Given the description of an element on the screen output the (x, y) to click on. 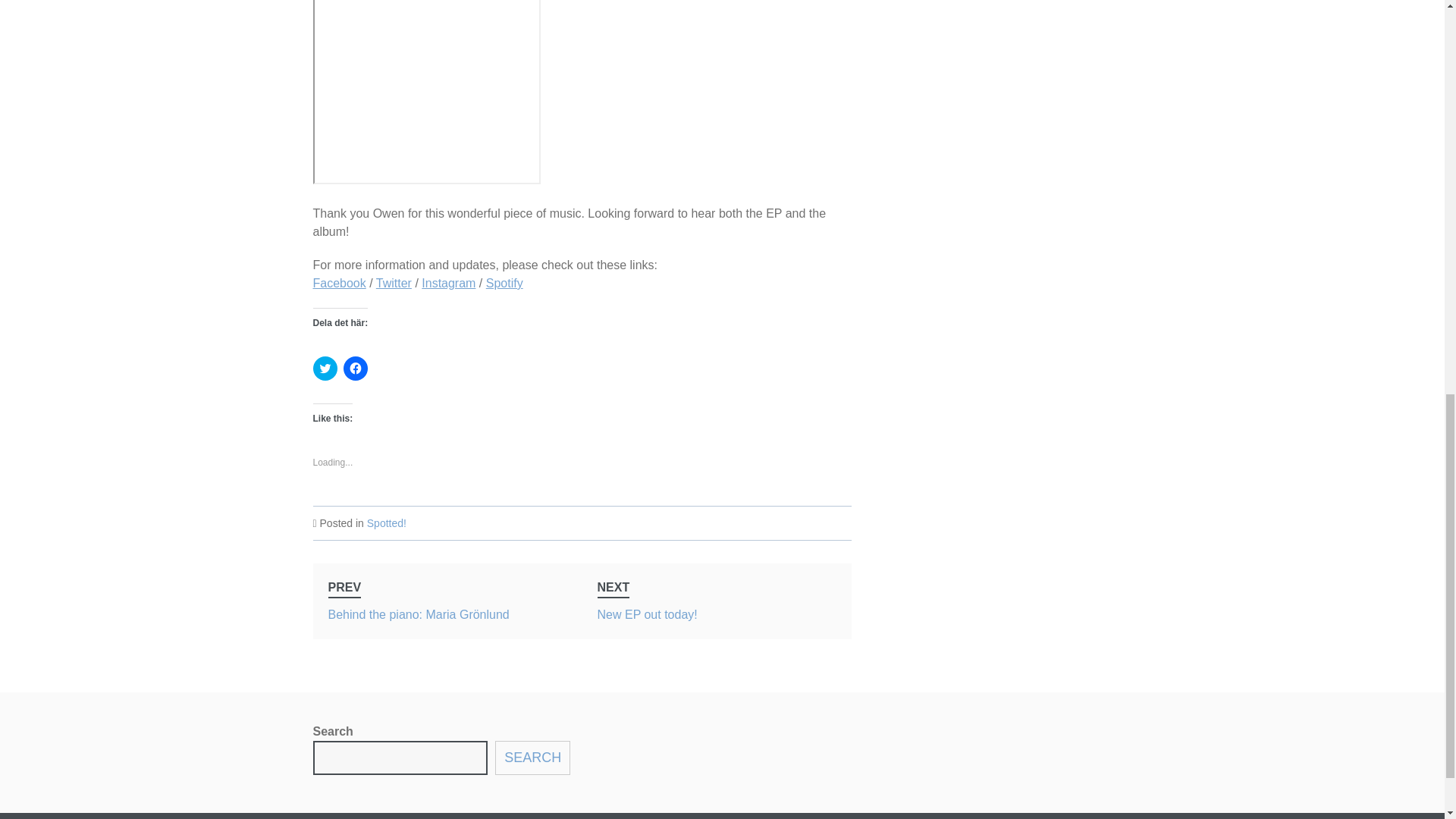
Spotted! (386, 522)
Instagram (716, 601)
Click to share on Twitter (449, 282)
Facebook (324, 368)
Click to share on Facebook (339, 282)
Spotify (354, 368)
Twitter (504, 282)
SEARCH (393, 282)
